Given the description of an element on the screen output the (x, y) to click on. 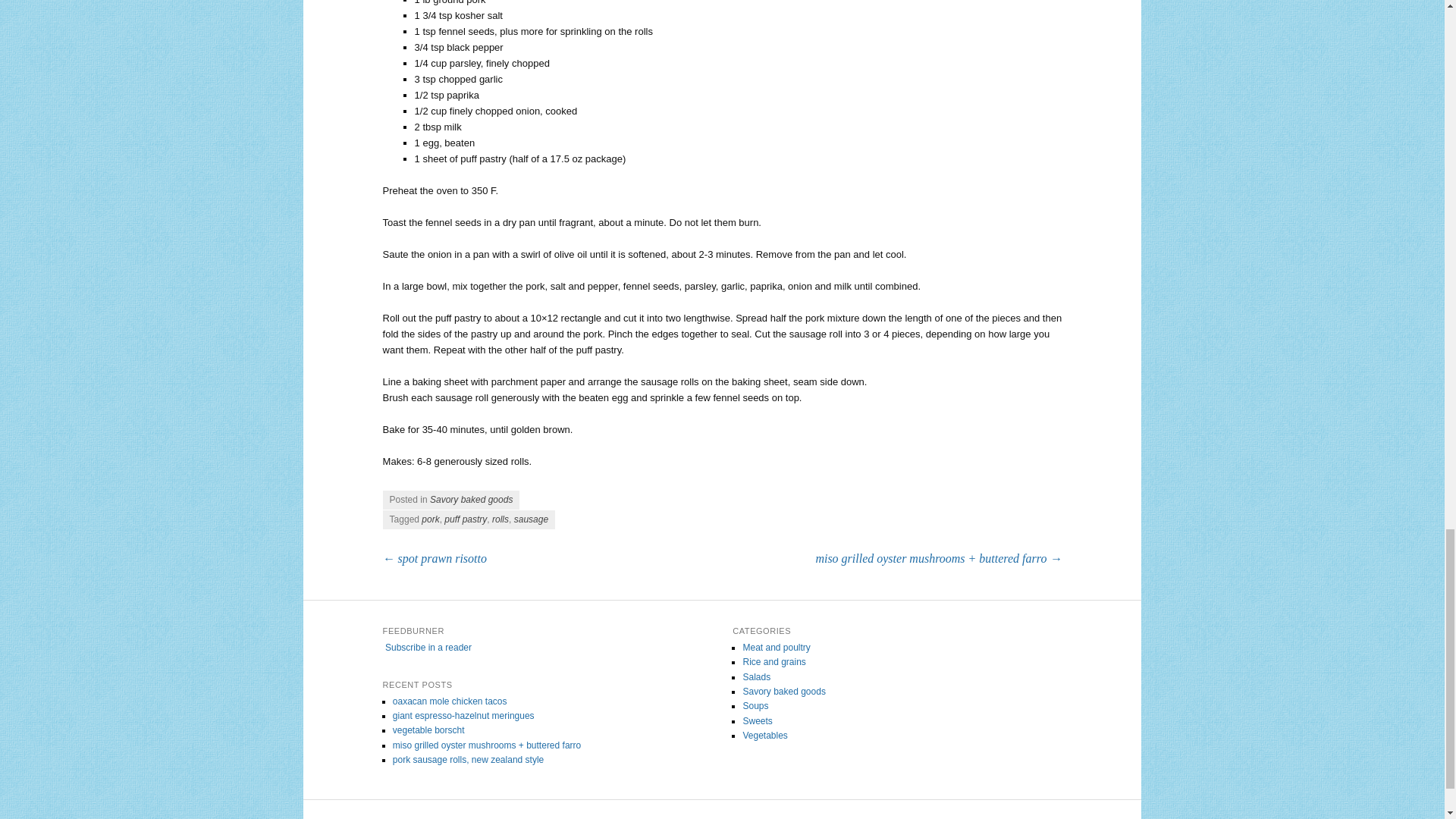
Soups (755, 706)
rolls (500, 519)
vegetable borscht (428, 729)
giant espresso-hazelnut meringues (463, 715)
Vegetables (764, 735)
sausage (530, 519)
Meat and poultry (775, 647)
pork sausage rolls, new zealand style (468, 759)
Rice and grains (773, 661)
Sweets (756, 720)
